Given the description of an element on the screen output the (x, y) to click on. 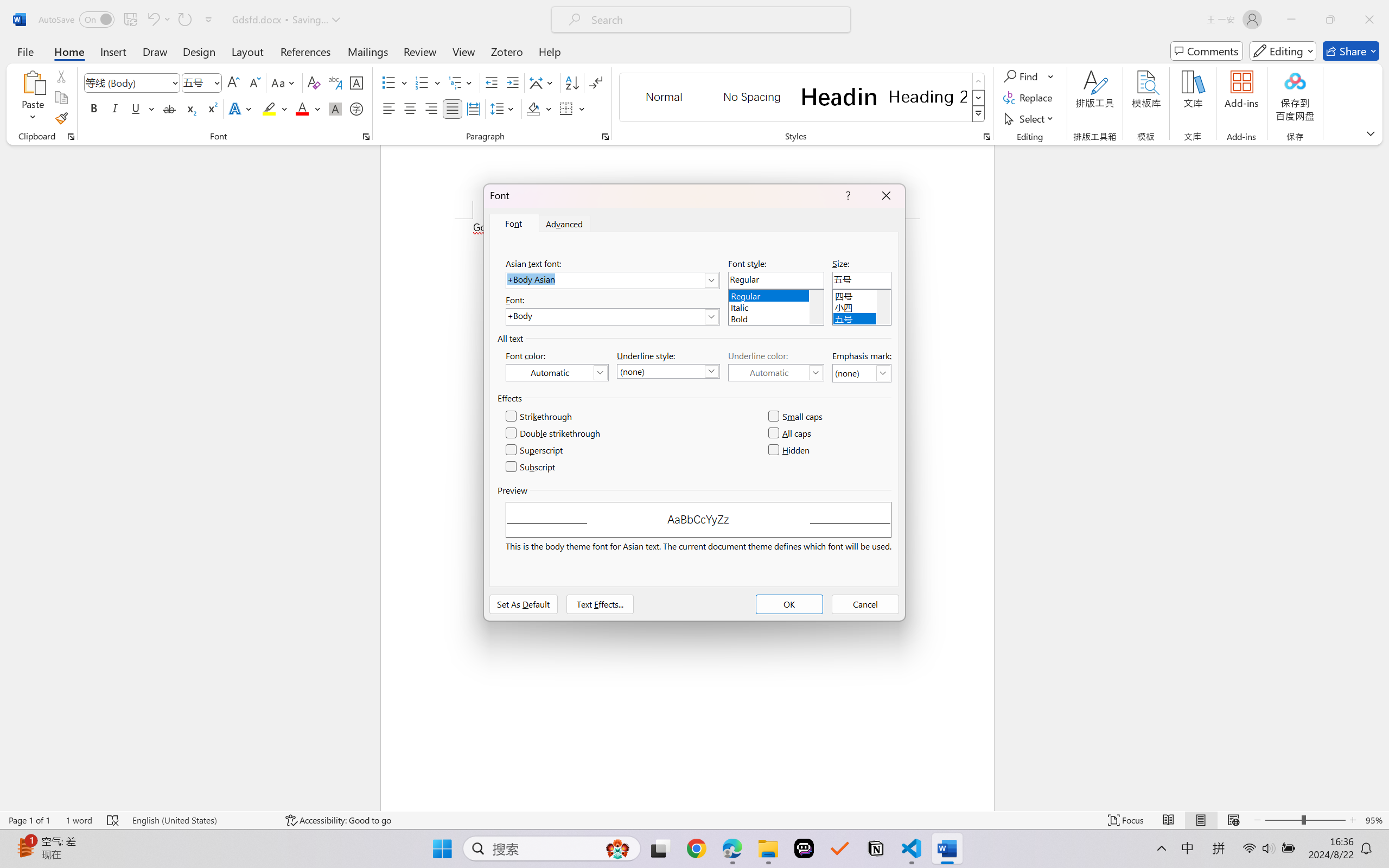
Text Highlight Color (274, 108)
Underline Color (Automatic) (775, 372)
Change Case (284, 82)
Font... (365, 136)
